Given the description of an element on the screen output the (x, y) to click on. 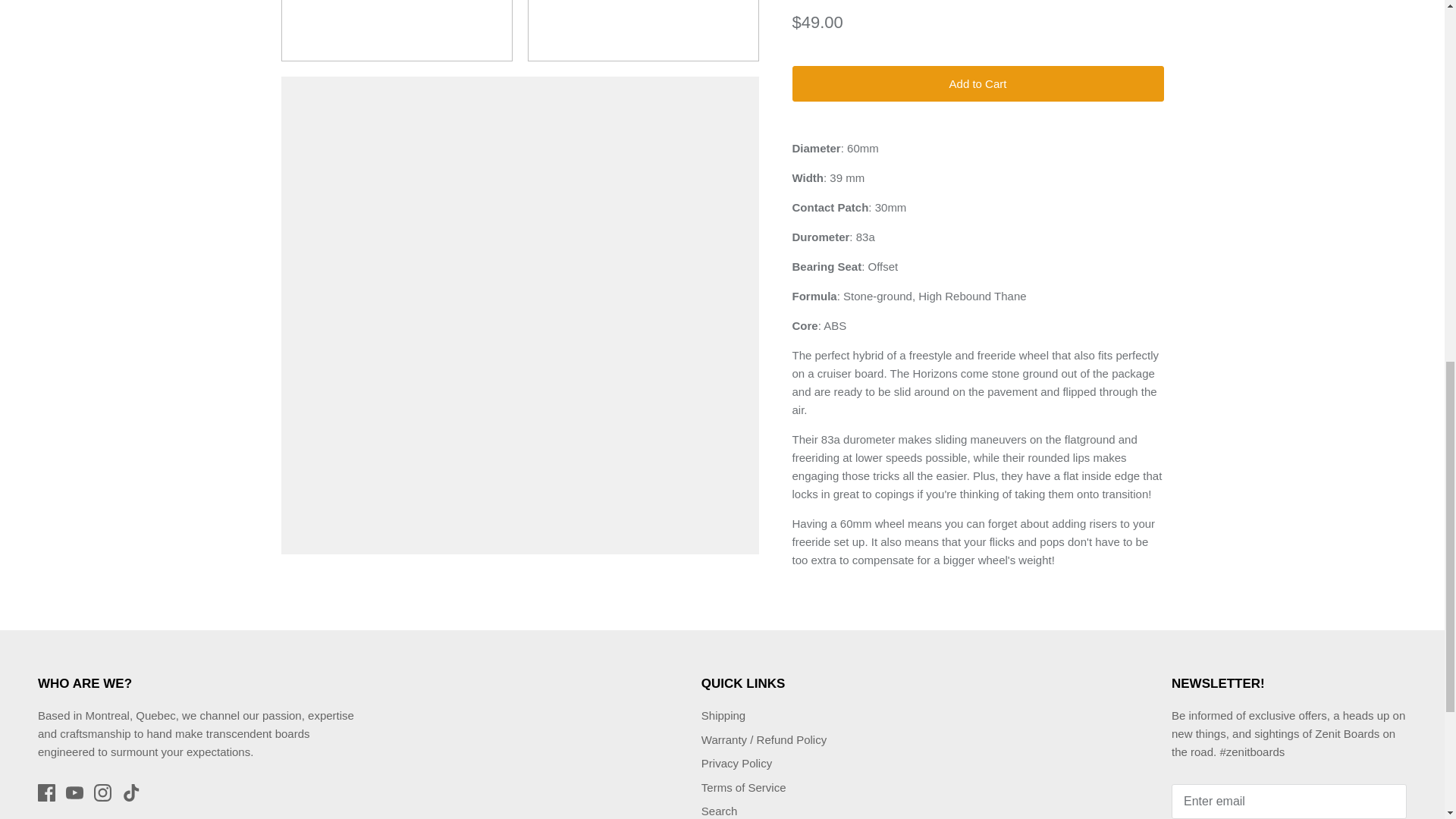
Facebook (46, 792)
Youtube (73, 792)
Instagram (103, 792)
